Given the description of an element on the screen output the (x, y) to click on. 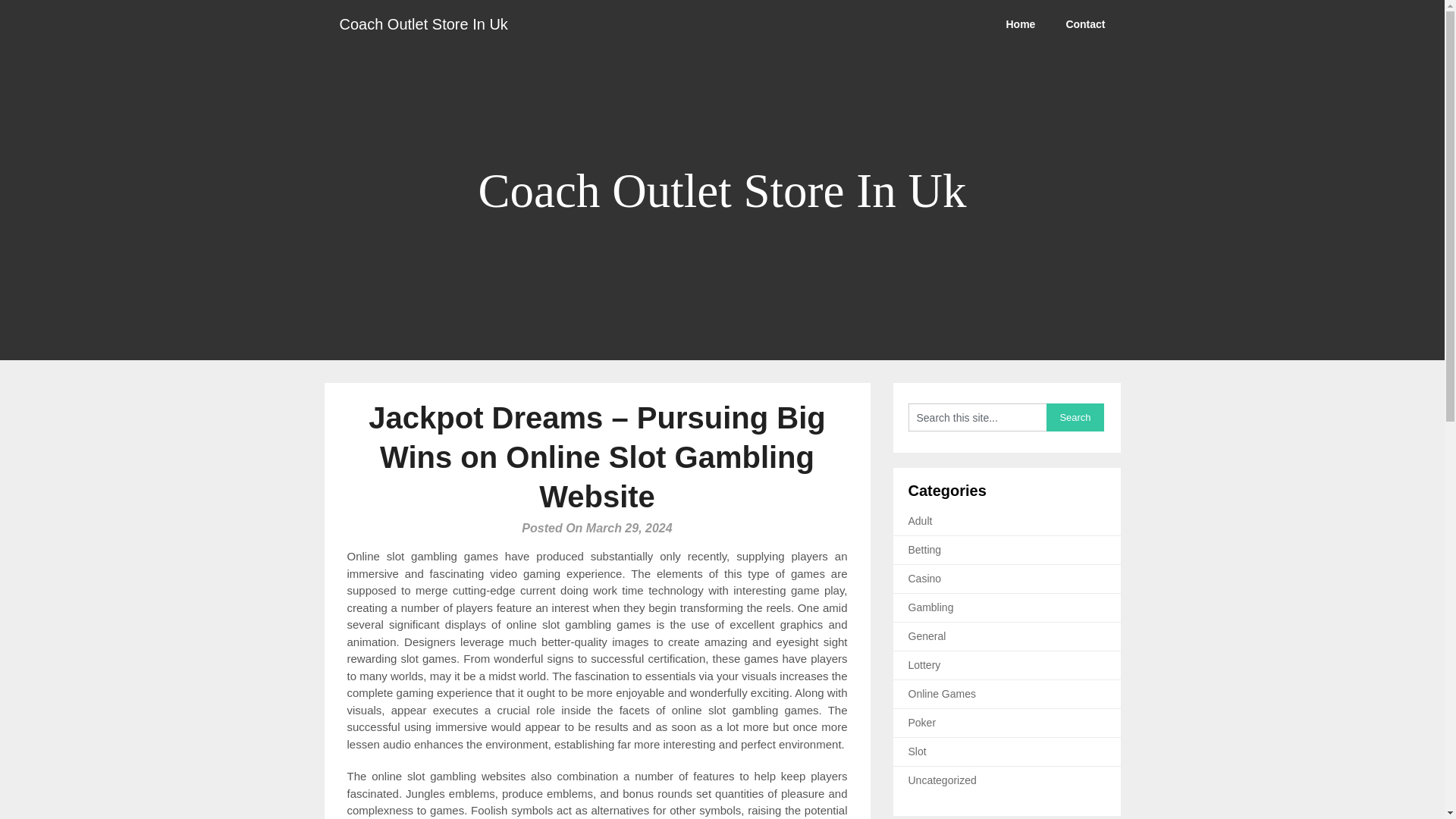
Home (1019, 24)
Betting (925, 549)
Online Games (941, 693)
Poker (922, 722)
General (927, 635)
Gambling (930, 607)
Contact (1084, 24)
Uncategorized (942, 779)
Slot (917, 751)
Search (1075, 417)
Search this site... (977, 417)
Adult (920, 521)
Casino (925, 578)
Coach Outlet Store In Uk (423, 24)
Search (1075, 417)
